Given the description of an element on the screen output the (x, y) to click on. 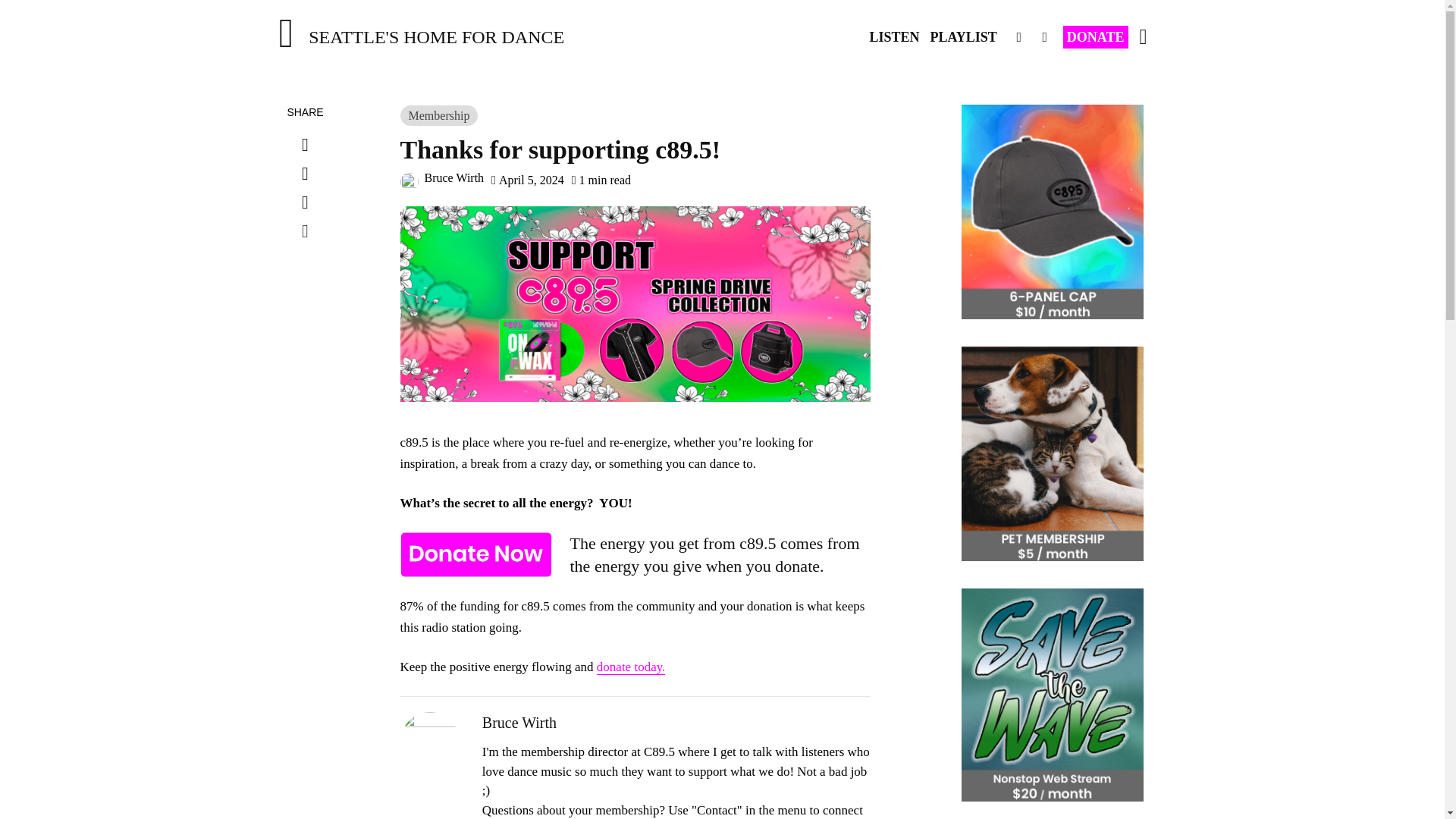
LISTEN (893, 37)
DONATE (1095, 36)
Membership (439, 115)
PLAYLIST (963, 37)
donate today. (630, 667)
Bruce Wirth (442, 177)
